Given the description of an element on the screen output the (x, y) to click on. 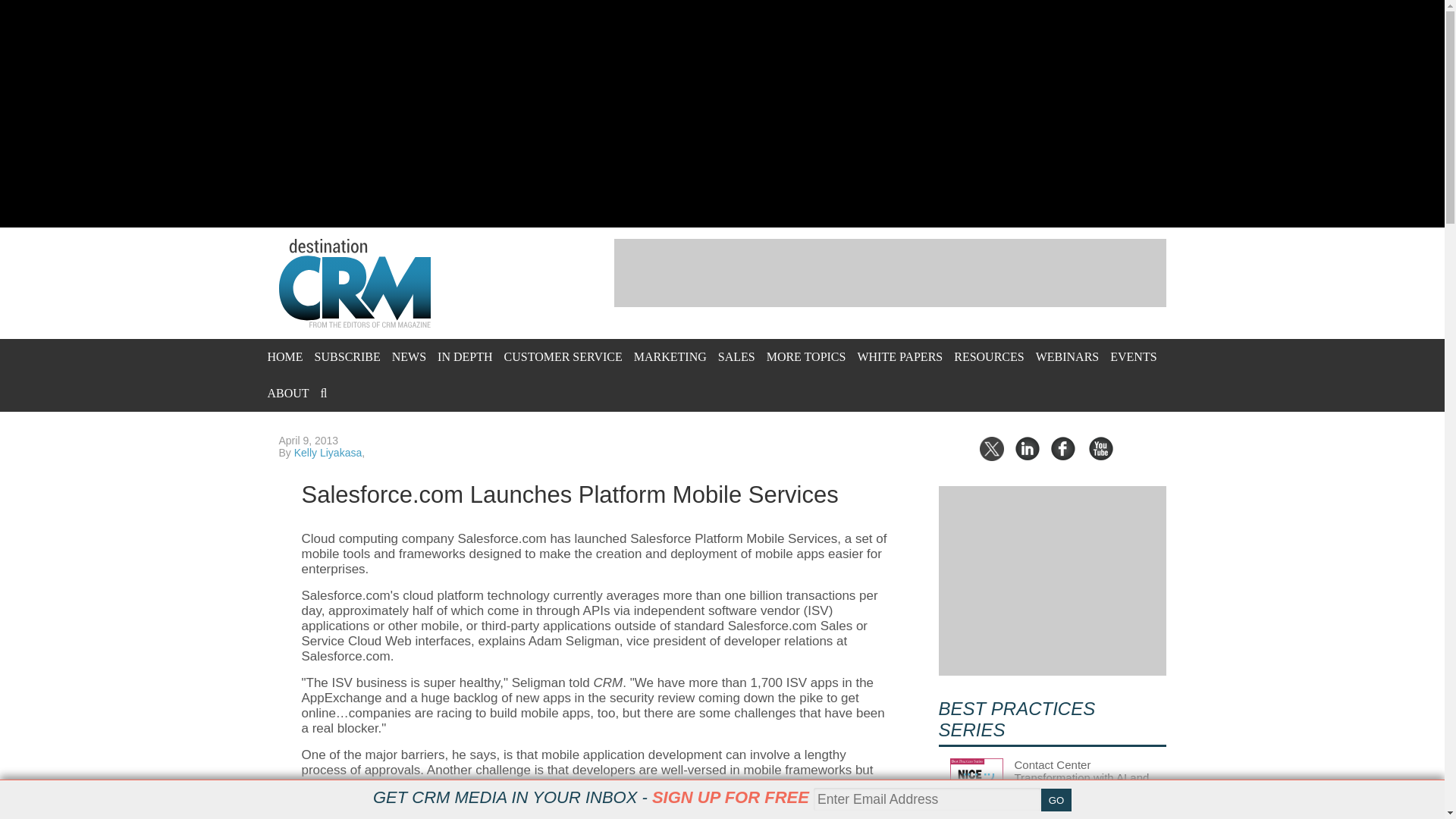
NEWS (408, 357)
CUSTOMER SERVICE (563, 357)
SALES (736, 357)
SUBSCRIBE (347, 357)
RESOURCES (988, 357)
MARKETING (669, 357)
GO (1056, 799)
MORE TOPICS (806, 357)
IN DEPTH (465, 357)
HOME (284, 357)
3rd party ad content (890, 273)
Marketing (669, 357)
Customer Service (563, 357)
WHITE PAPERS (899, 357)
